Given the description of an element on the screen output the (x, y) to click on. 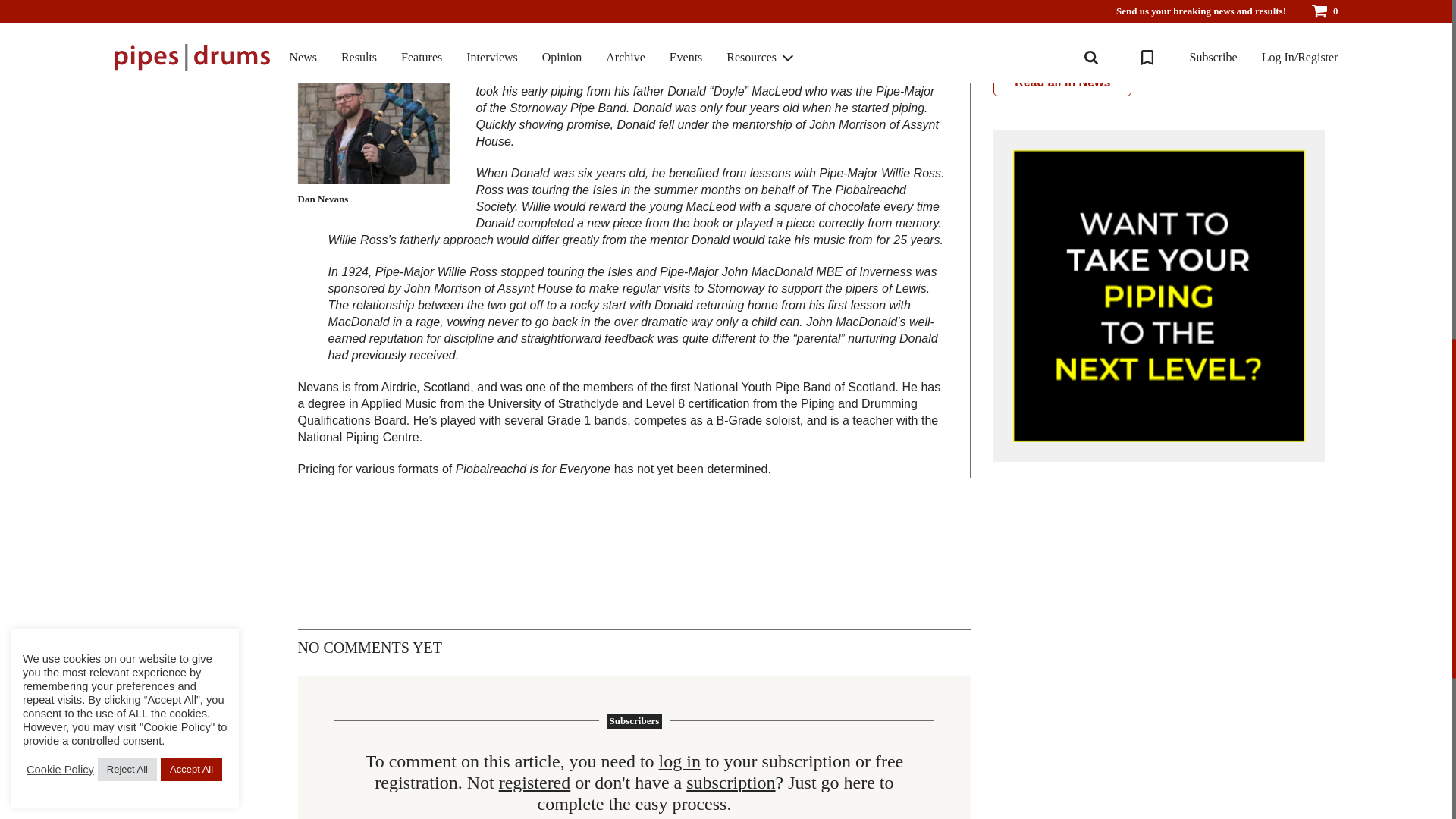
registered (534, 783)
Dan Nevans (373, 116)
log in (679, 762)
subscription (729, 783)
